Given the description of an element on the screen output the (x, y) to click on. 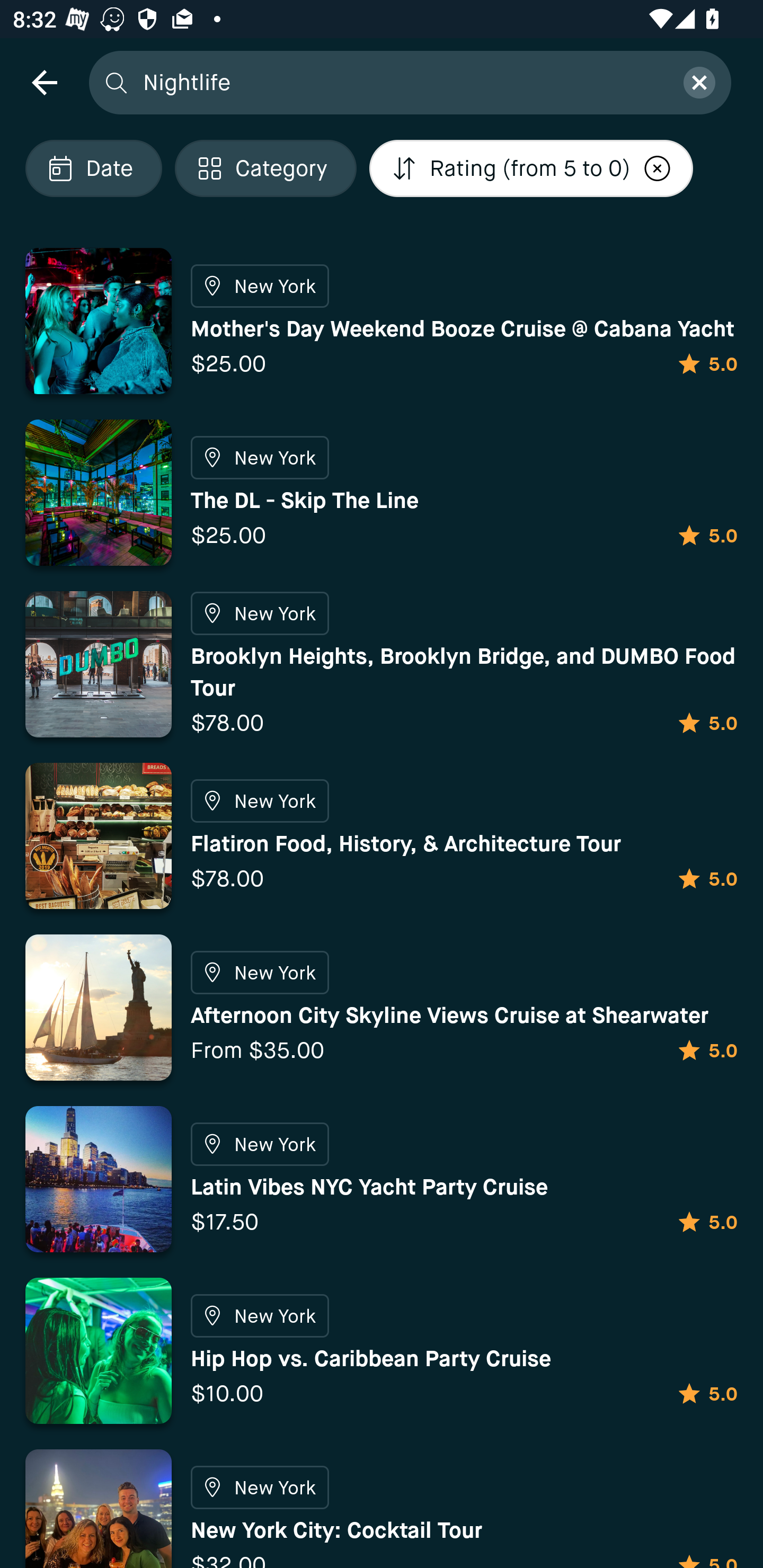
navigation icon (44, 81)
Nightlife (402, 81)
Localized description Date (93, 168)
Localized description Category (265, 168)
Localized description (657, 168)
